Given the description of an element on the screen output the (x, y) to click on. 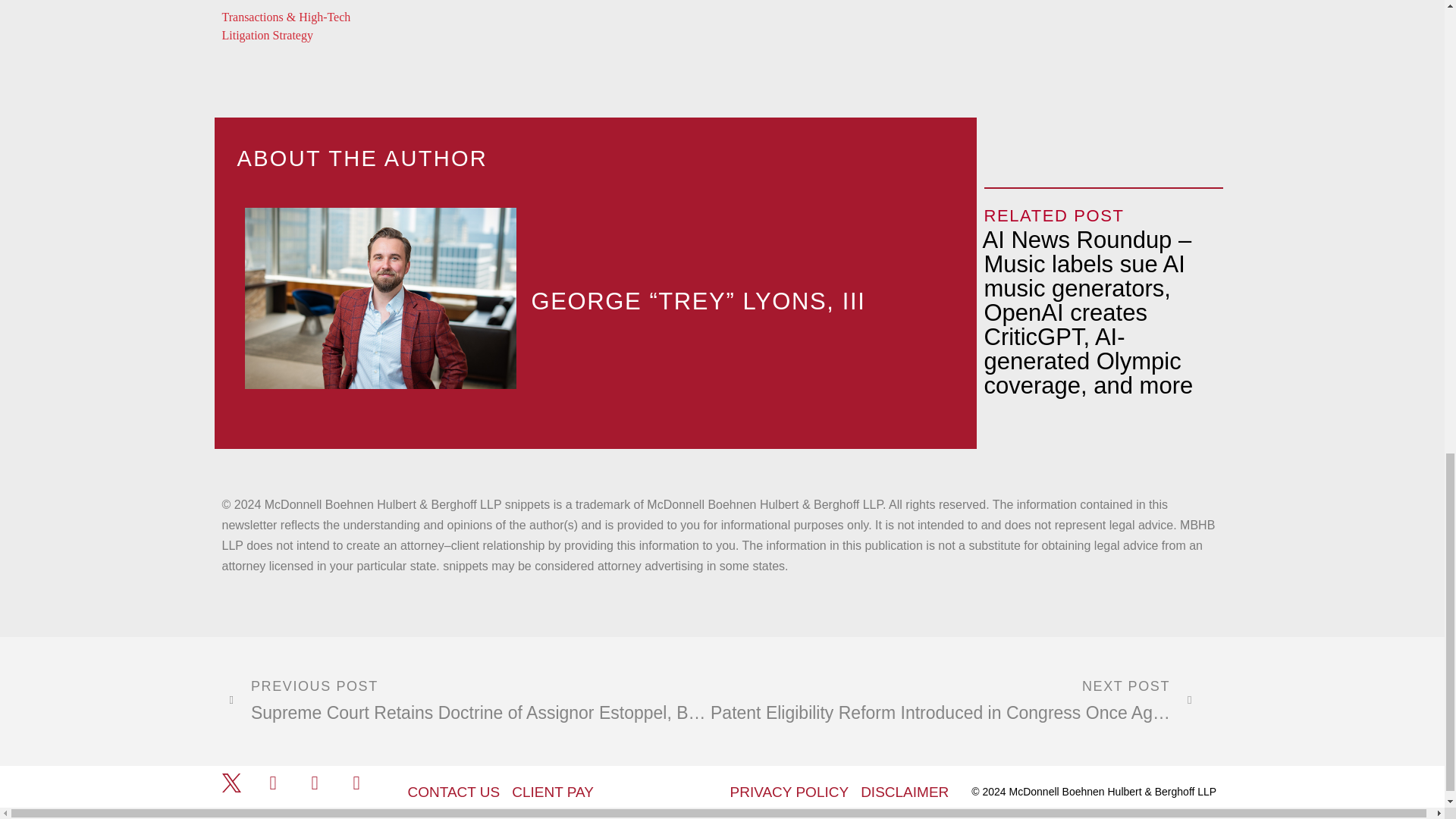
CONTACT US (453, 792)
CLIENT PAY (553, 792)
PRIVACY POLICY (788, 792)
DISCLAIMER (904, 792)
